Given the description of an element on the screen output the (x, y) to click on. 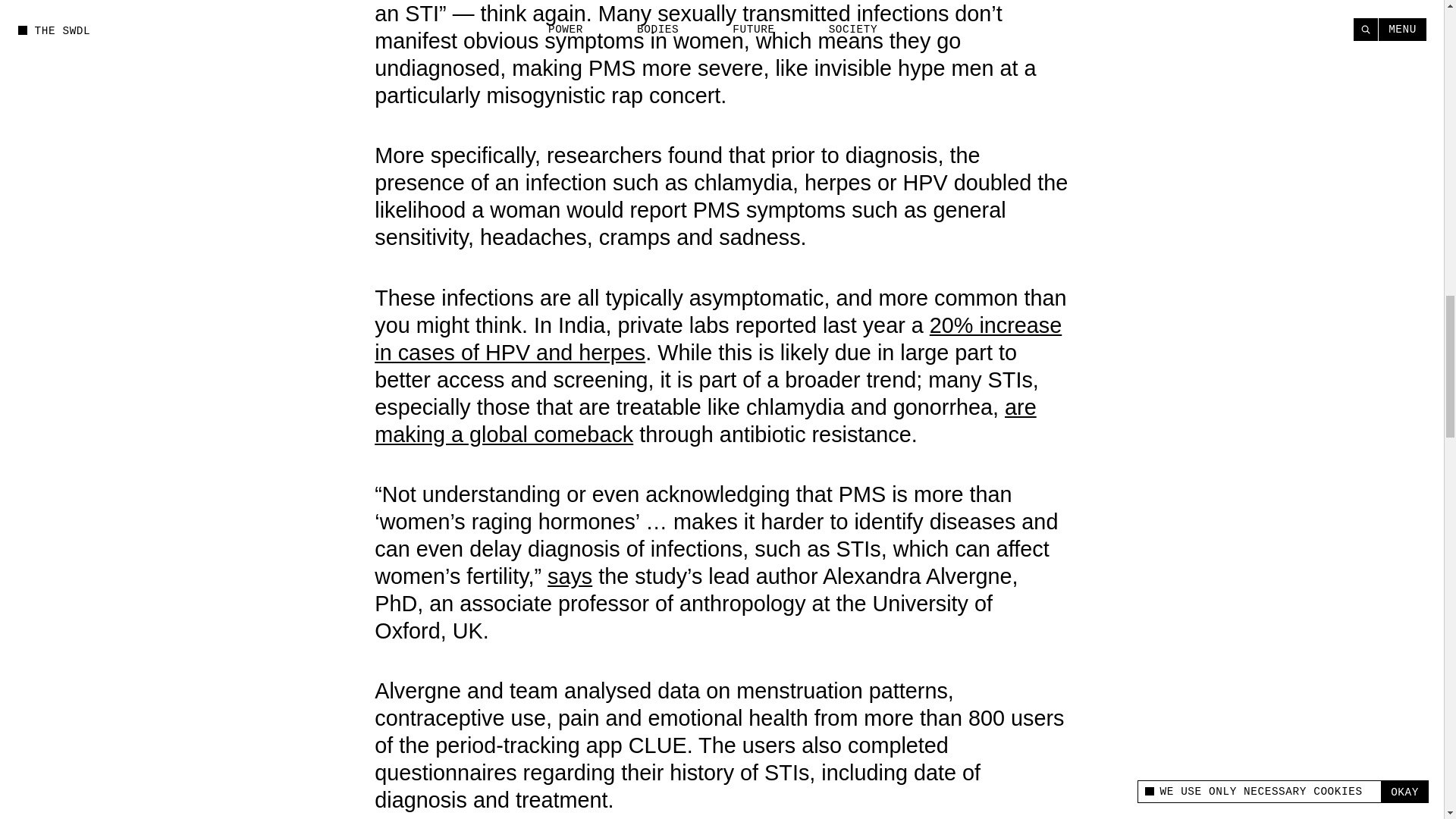
says (569, 576)
are making a global comeback (704, 420)
